Given the description of an element on the screen output the (x, y) to click on. 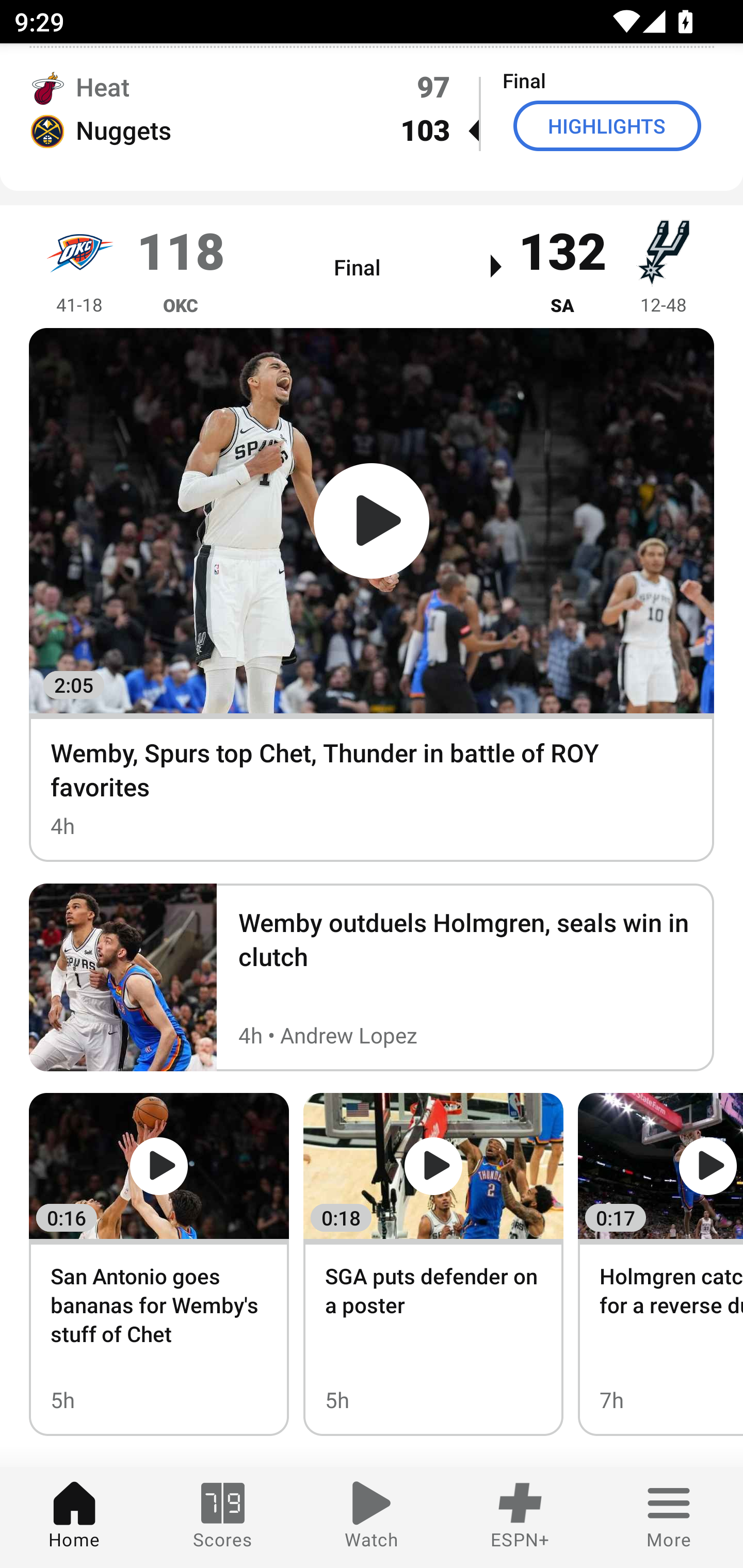
Heat 97 Final Nuggets 103  HIGHLIGHTS (371, 107)
HIGHLIGHTS (607, 125)
 0:18 SGA puts defender on a poster 5h (433, 1264)
 0:17 Holmgren catches lob for a reverse dunk 7h (660, 1264)
Scores (222, 1517)
Watch (371, 1517)
ESPN+ (519, 1517)
More (668, 1517)
